Given the description of an element on the screen output the (x, y) to click on. 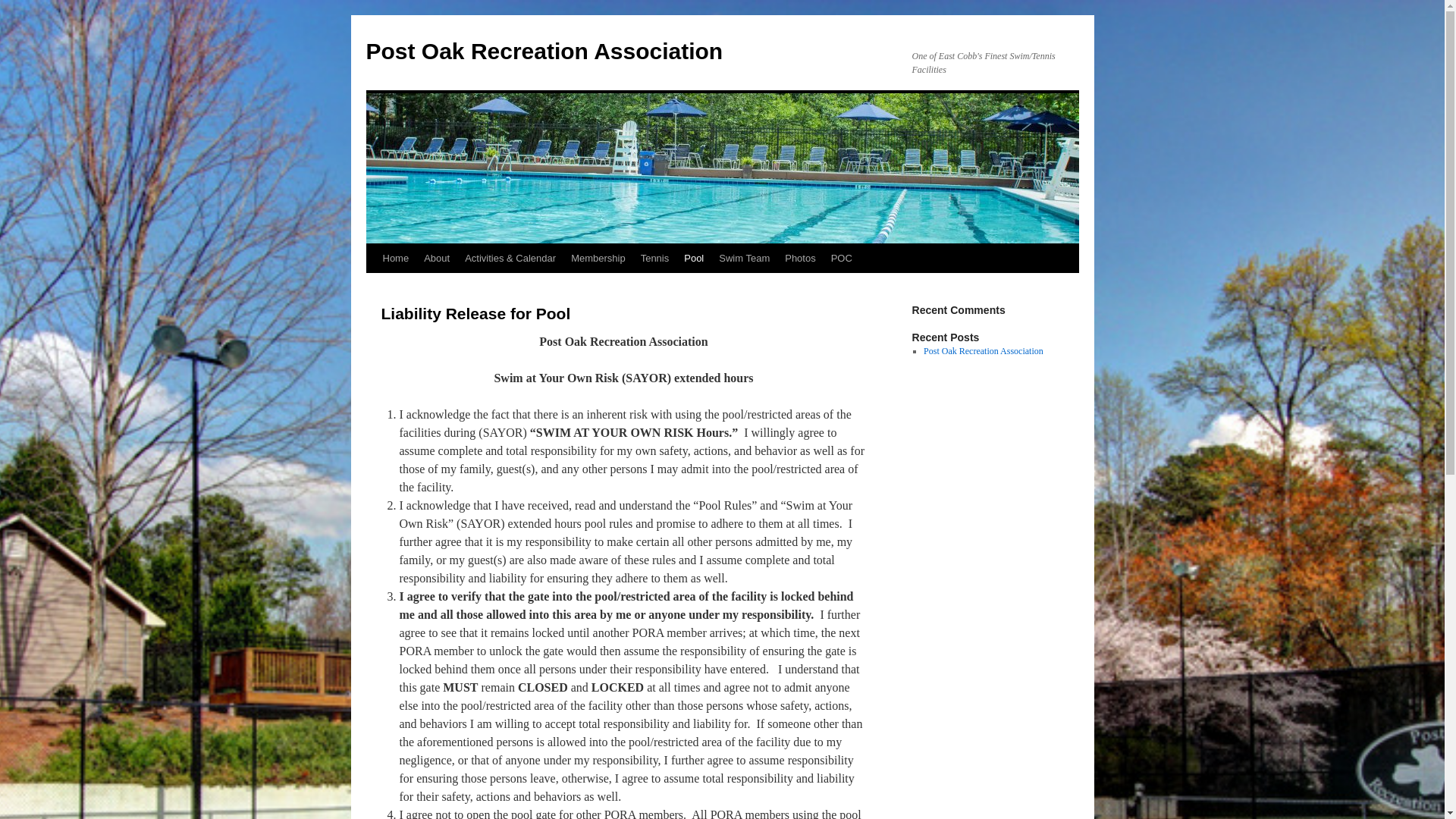
POC (842, 258)
Home (395, 258)
Photos (799, 258)
Swim Team (744, 258)
Post Oak Recreation Association (543, 50)
Post Oak Recreation Association (983, 350)
Tennis (655, 258)
Pool (694, 258)
About (436, 258)
Membership (598, 258)
Post Oak Recreation Association (543, 50)
